Given the description of an element on the screen output the (x, y) to click on. 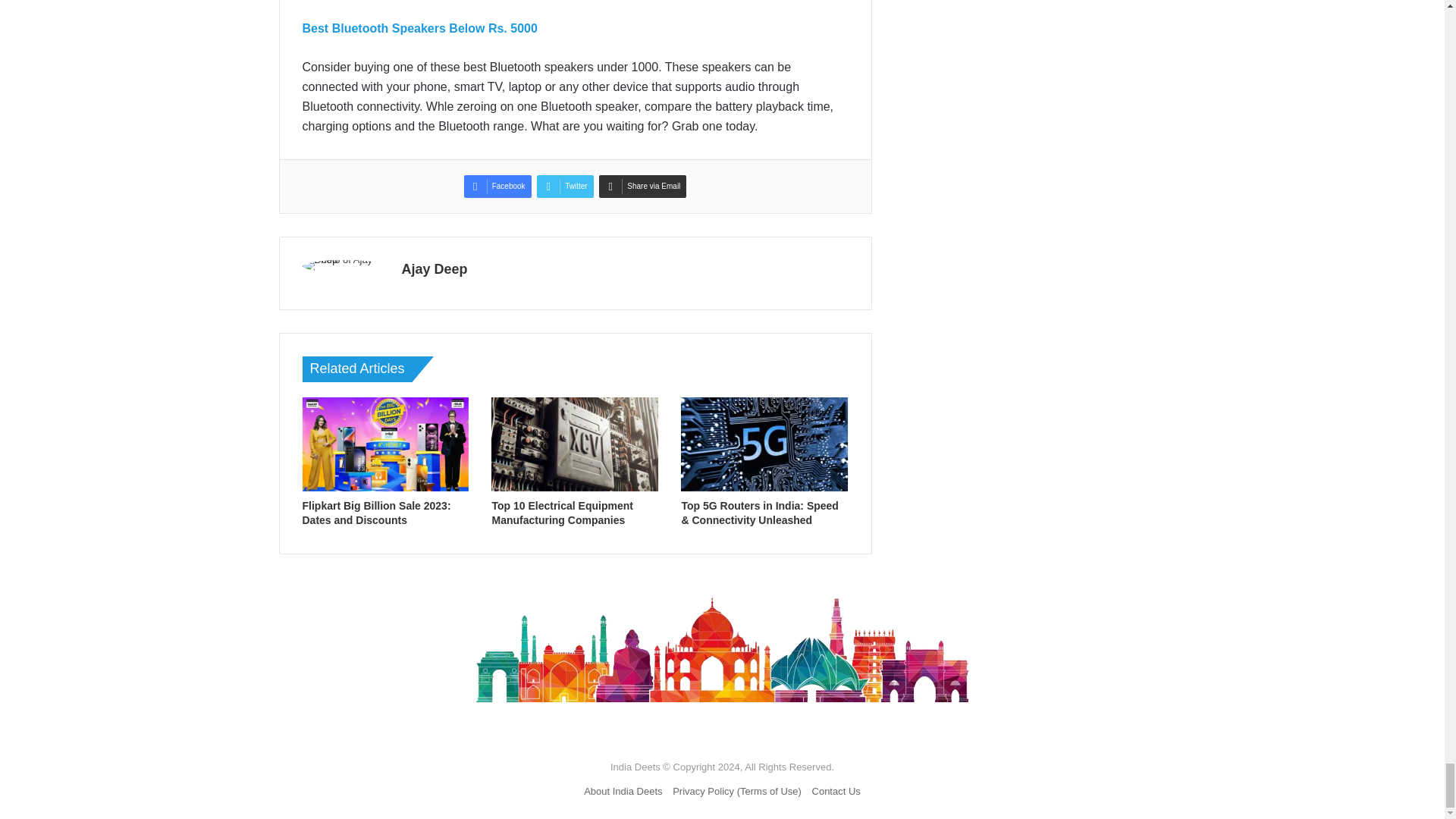
Best Bluetooth Speakers Below Rs. 5000 (419, 28)
